Given the description of an element on the screen output the (x, y) to click on. 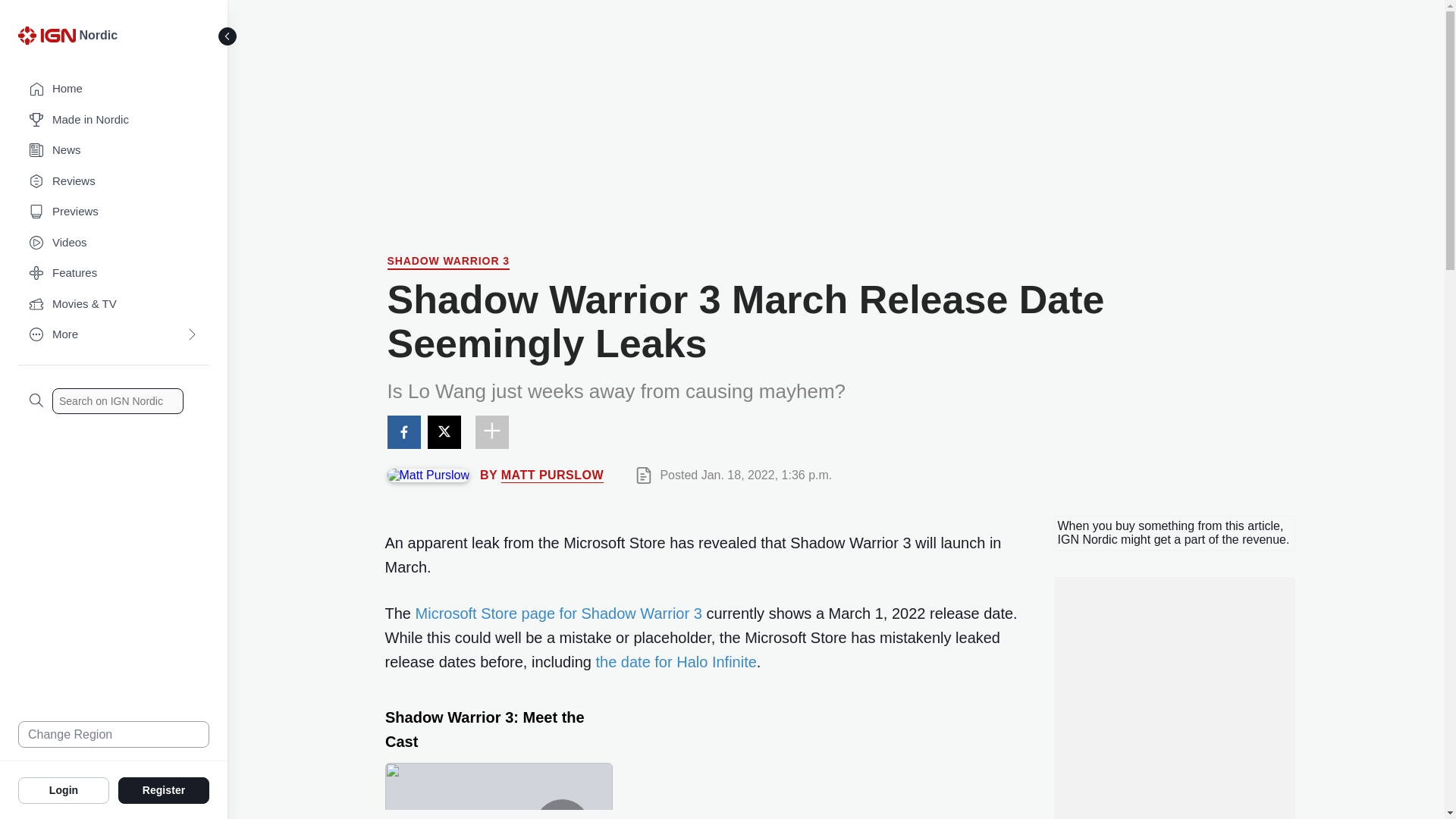
More (113, 334)
IGN Logo (48, 39)
News (113, 150)
Microsoft Store page for Shadow Warrior 3 (557, 613)
Previews (113, 211)
Made in Nordic (113, 119)
Reviews (113, 181)
Features (113, 273)
Register (163, 789)
IGN Logo (46, 34)
